Given the description of an element on the screen output the (x, y) to click on. 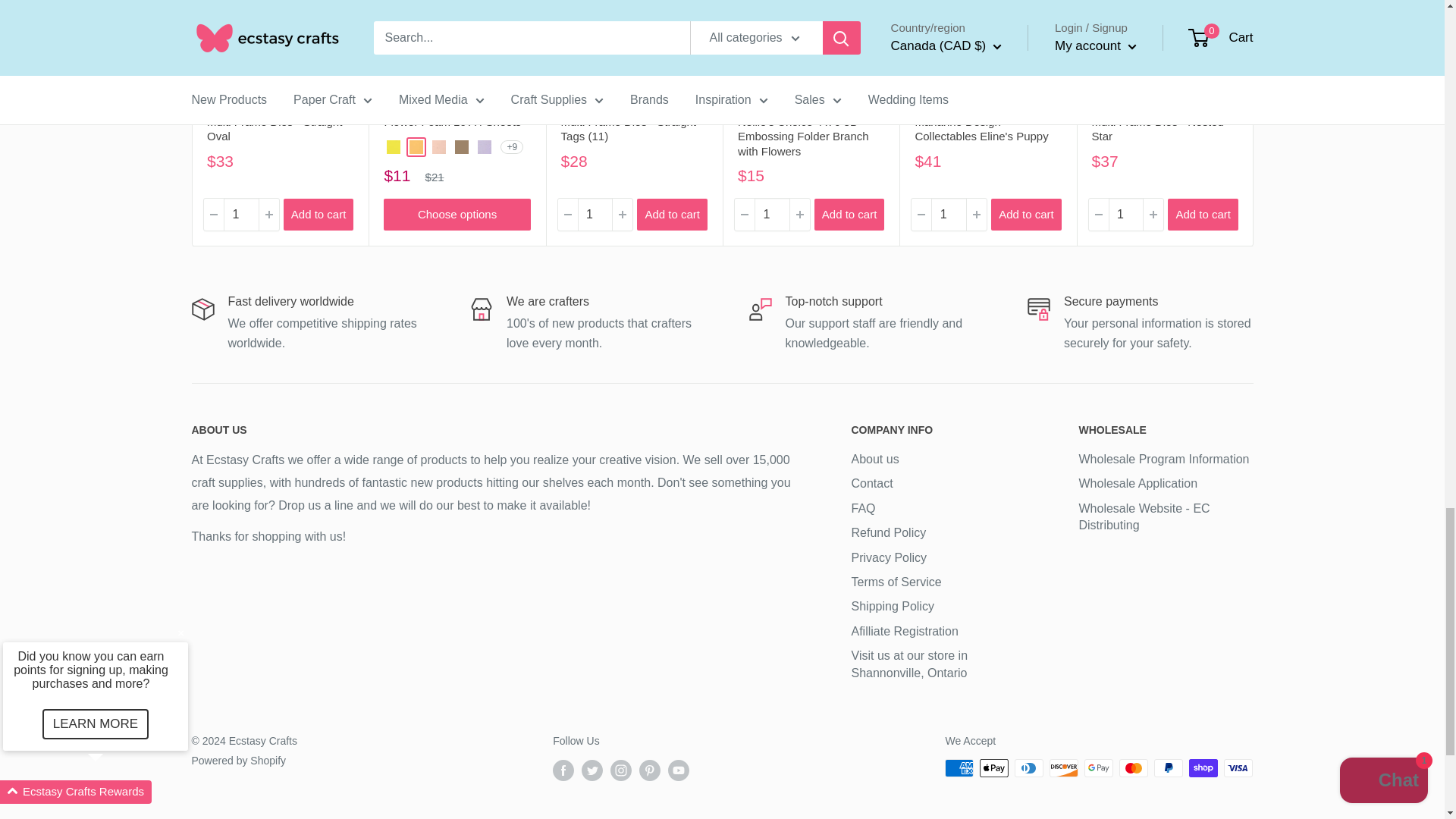
Beige (461, 146)
1 (594, 214)
Light Violet (484, 146)
Bright Yellow (393, 146)
1 (771, 214)
1 (240, 214)
Salmon (438, 146)
1 (948, 214)
Mustard (416, 146)
1 (1125, 214)
